Given the description of an element on the screen output the (x, y) to click on. 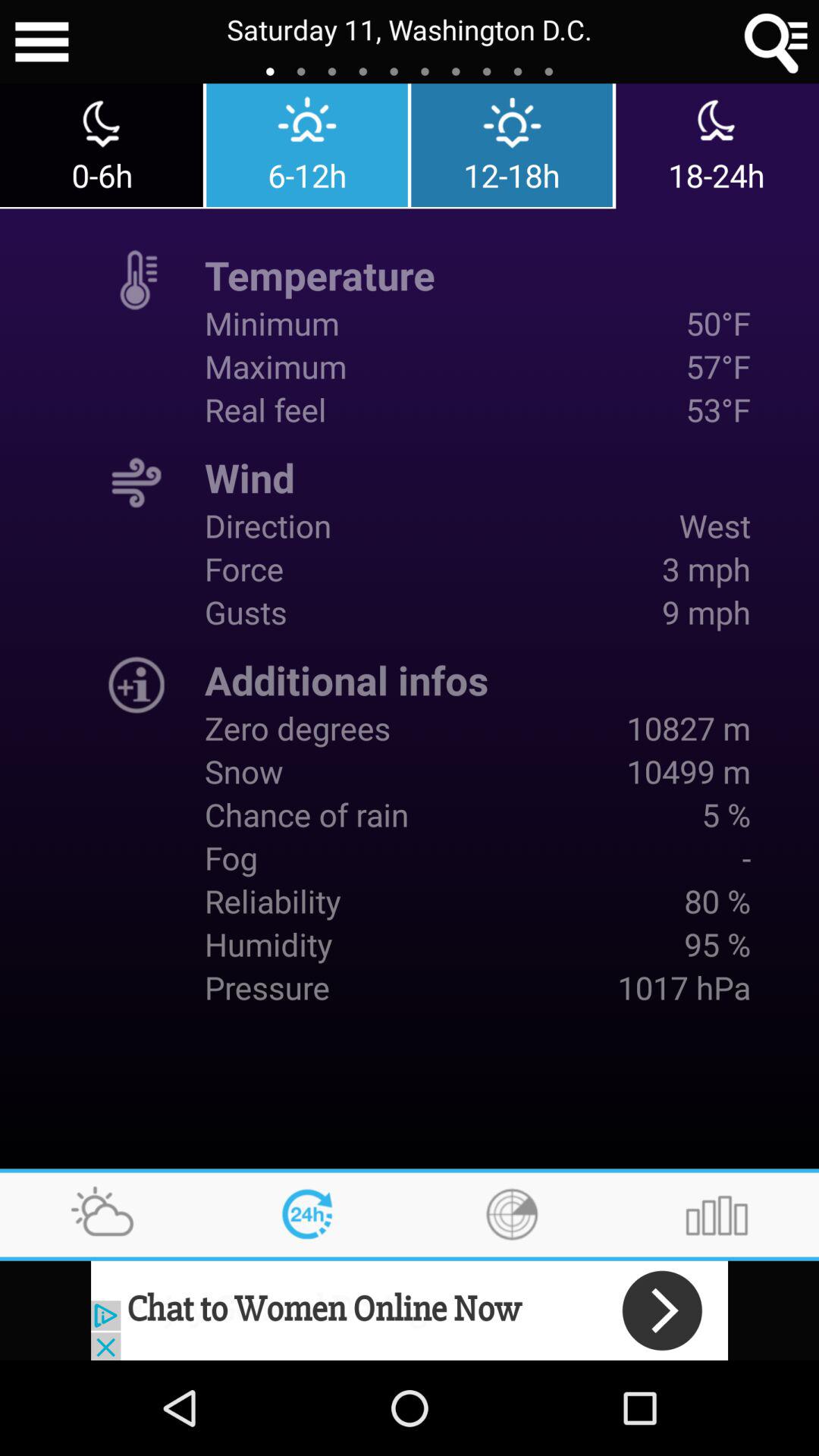
go to menu (41, 41)
